Given the description of an element on the screen output the (x, y) to click on. 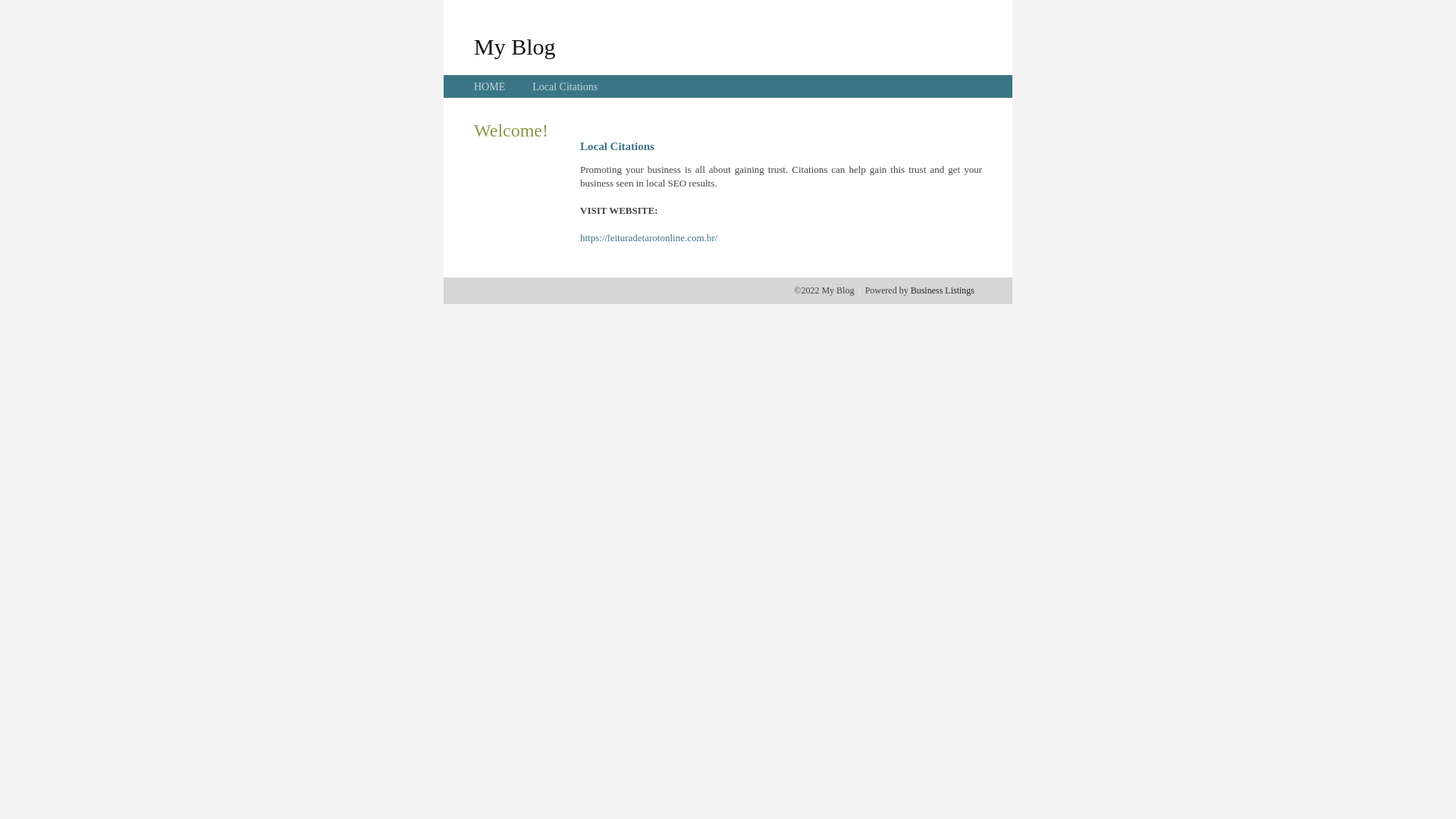
Local Citations Element type: text (564, 86)
My Blog Element type: text (514, 46)
HOME Element type: text (489, 86)
Business Listings Element type: text (942, 290)
https://leituradetarotonline.com.br/ Element type: text (648, 237)
